Given the description of an element on the screen output the (x, y) to click on. 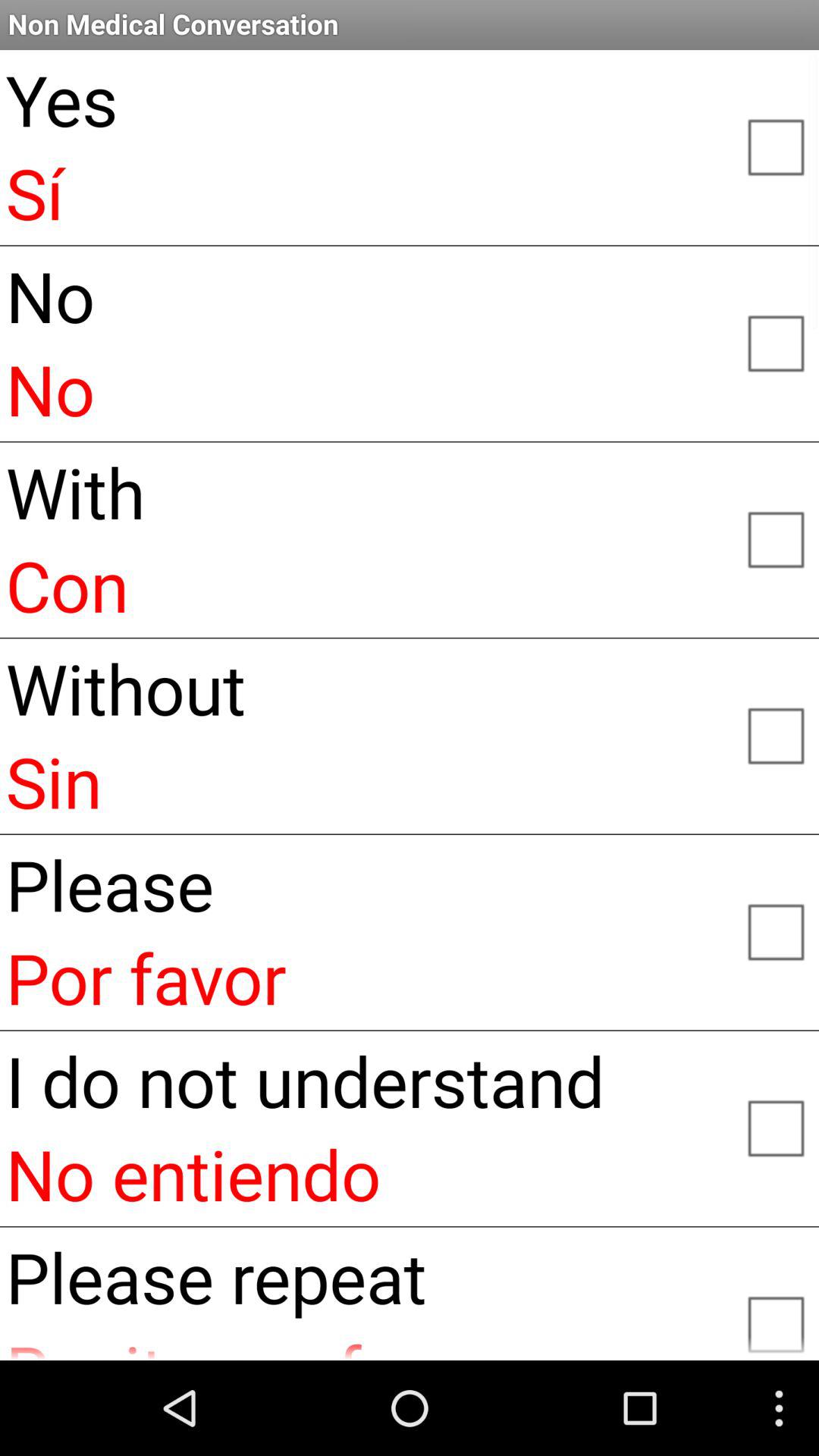
toggle no (775, 342)
